Given the description of an element on the screen output the (x, y) to click on. 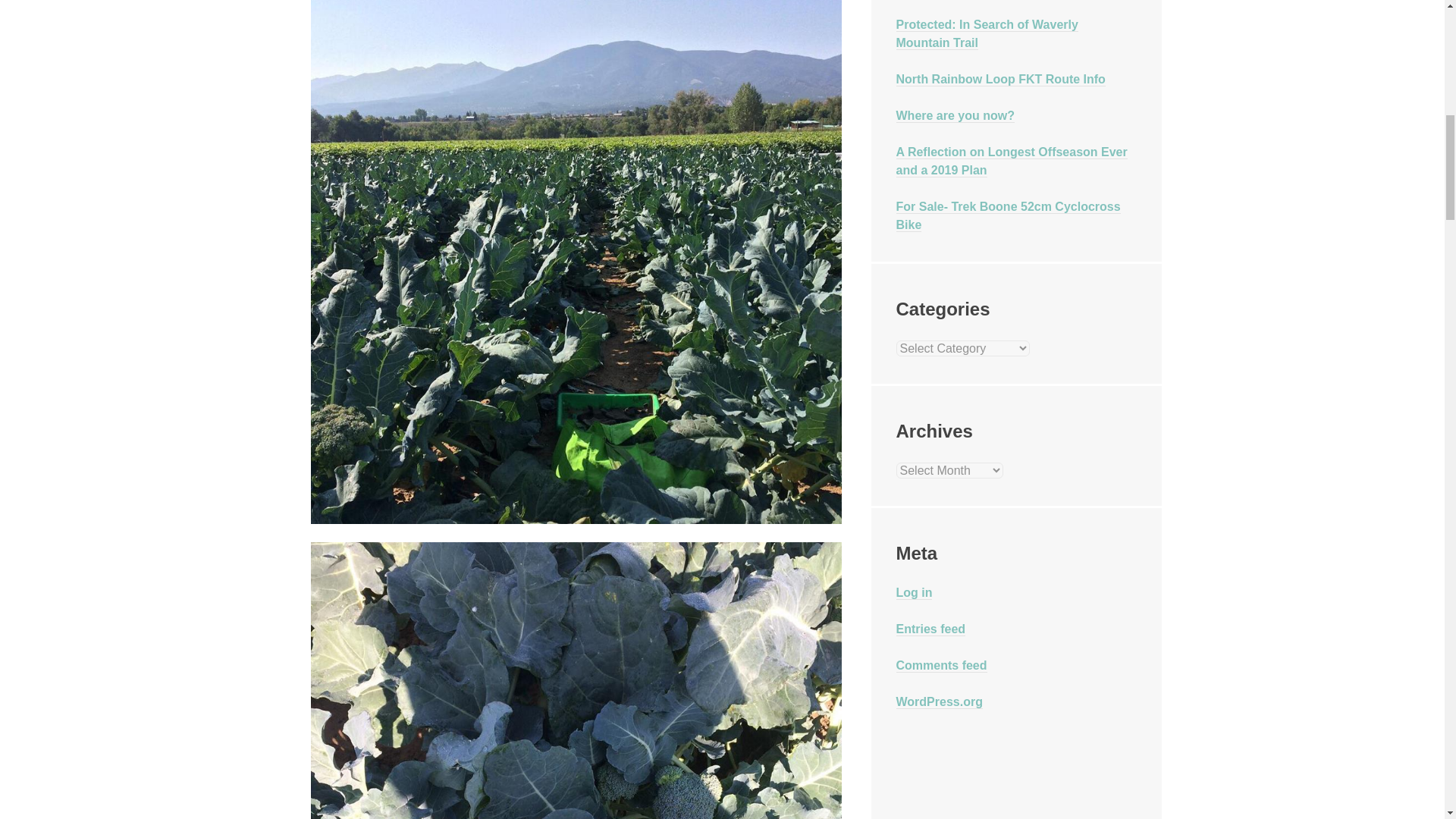
A Reflection on Longest Offseason Ever and a 2019 Plan (1011, 161)
Where are you now? (955, 115)
Protected: In Search of Waverly Mountain Trail (987, 33)
For Sale- Trek Boone 52cm Cyclocross Bike (1008, 215)
Entries feed (931, 629)
WordPress.org (939, 702)
Comments feed (941, 665)
Log in (914, 592)
North Rainbow Loop FKT Route Info (1000, 79)
